Given the description of an element on the screen output the (x, y) to click on. 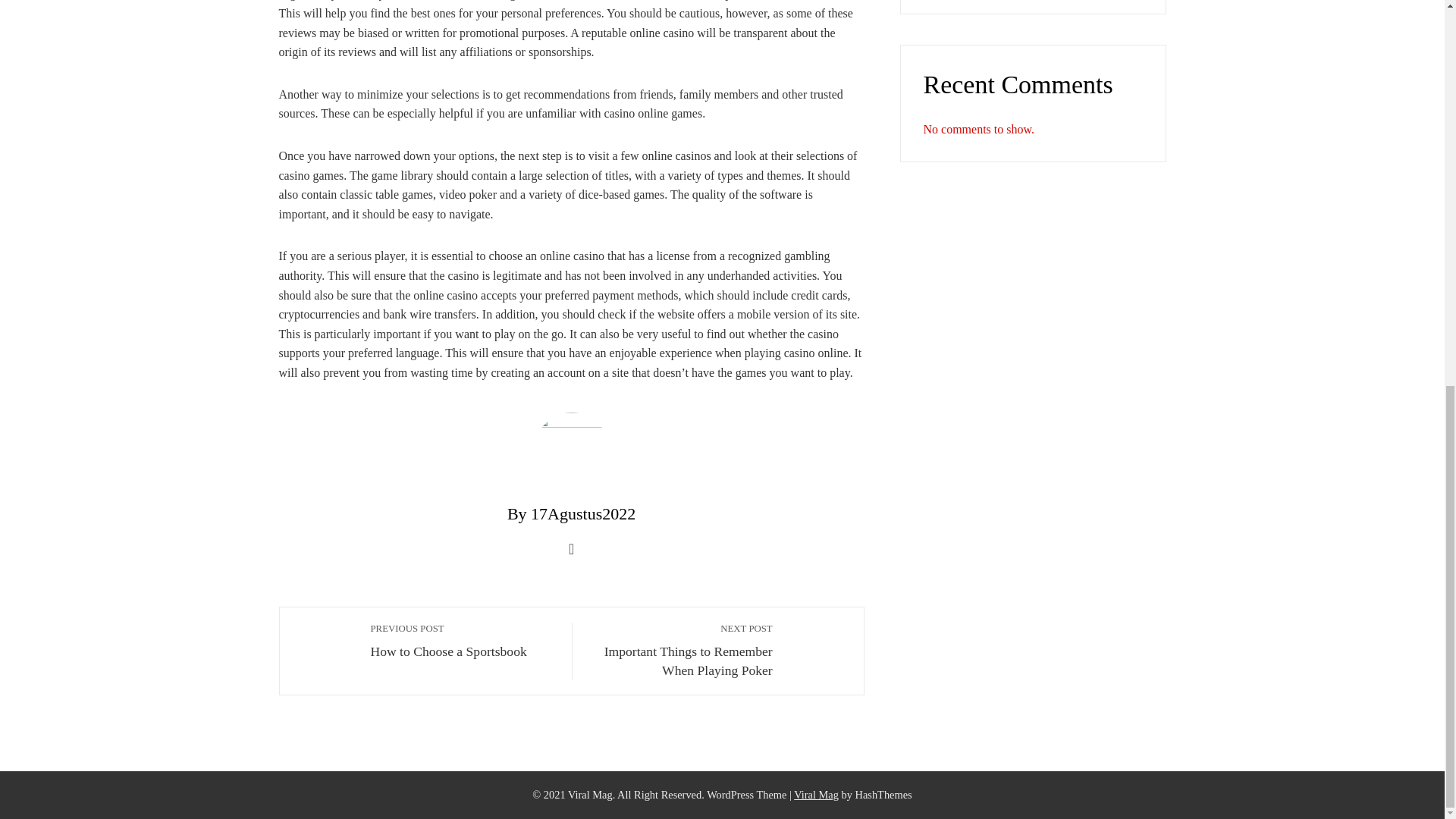
Viral Mag (815, 794)
Download Viral News (815, 794)
